Given the description of an element on the screen output the (x, y) to click on. 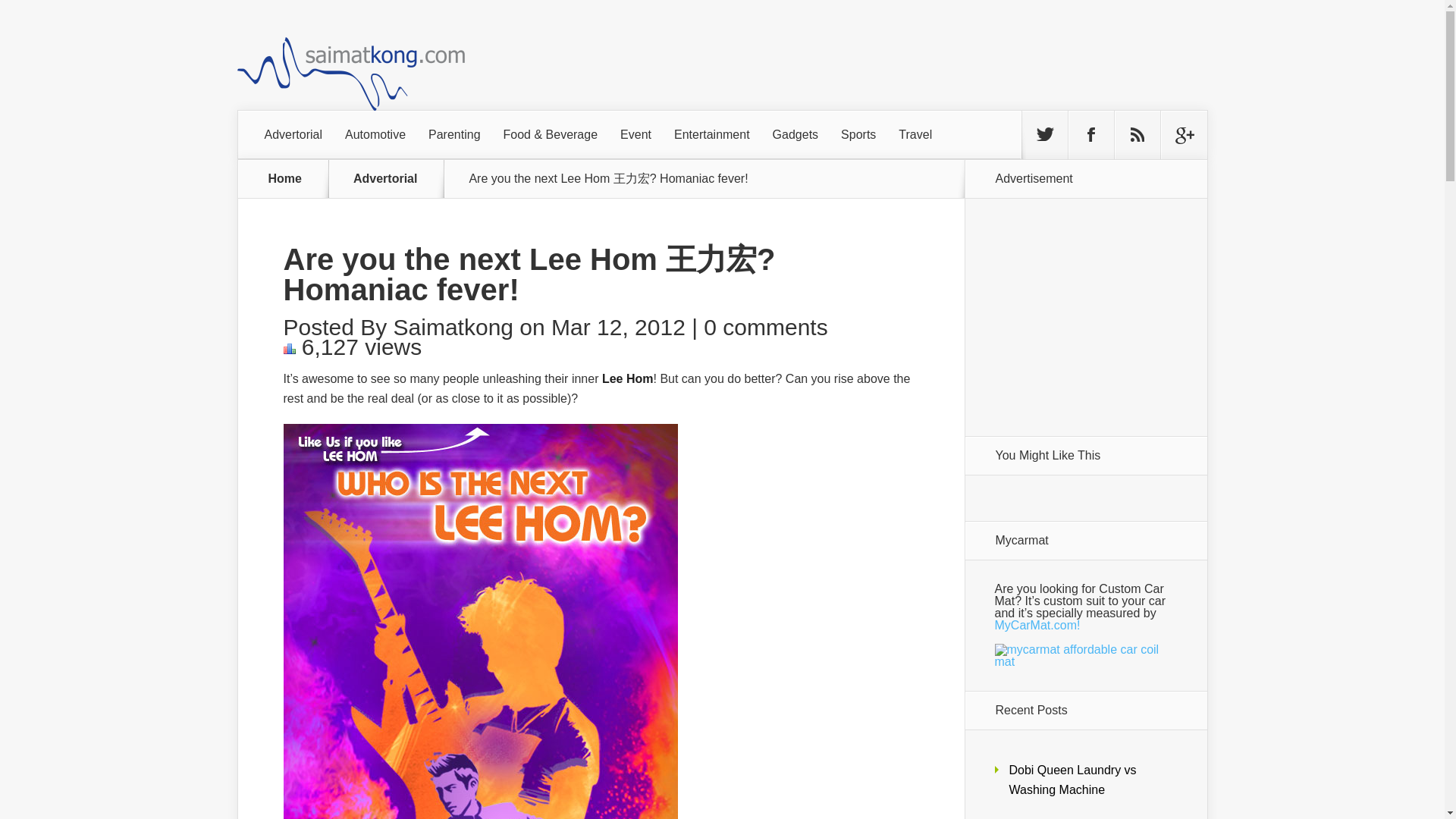
Advertorial (293, 134)
Automotive (374, 134)
Travel (914, 134)
Entertainment (711, 134)
Sports (857, 134)
Gadgets (795, 134)
Parenting (454, 134)
Posts by Saimatkong (453, 326)
Event (635, 134)
